Given the description of an element on the screen output the (x, y) to click on. 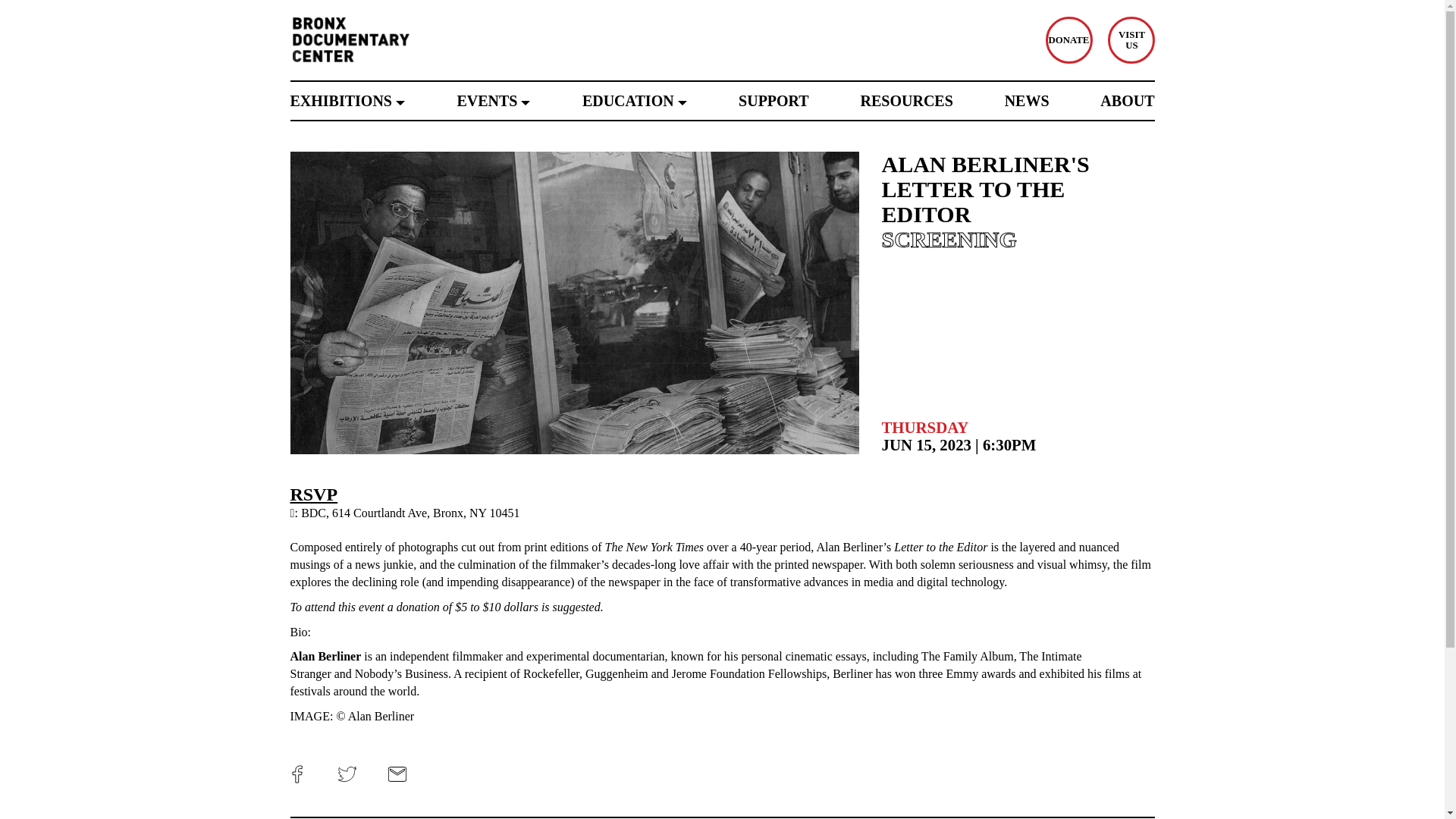
NEWS (1026, 100)
TWITTER CREATED WITH SKETCH. (346, 773)
DONATE (1068, 39)
TWITTER CREATED WITH SKETCH. (346, 770)
EDUCATION (634, 100)
RSVP (313, 494)
RESOURCES (906, 100)
SUPPORT (773, 100)
FACEBOOK CREATED WITH SKETCH. (296, 773)
FACEBOOK CREATED WITH SKETCH. (296, 770)
EXHIBITIONS (346, 100)
ABOUT (1127, 100)
EVENTS (1130, 39)
